Given the description of an element on the screen output the (x, y) to click on. 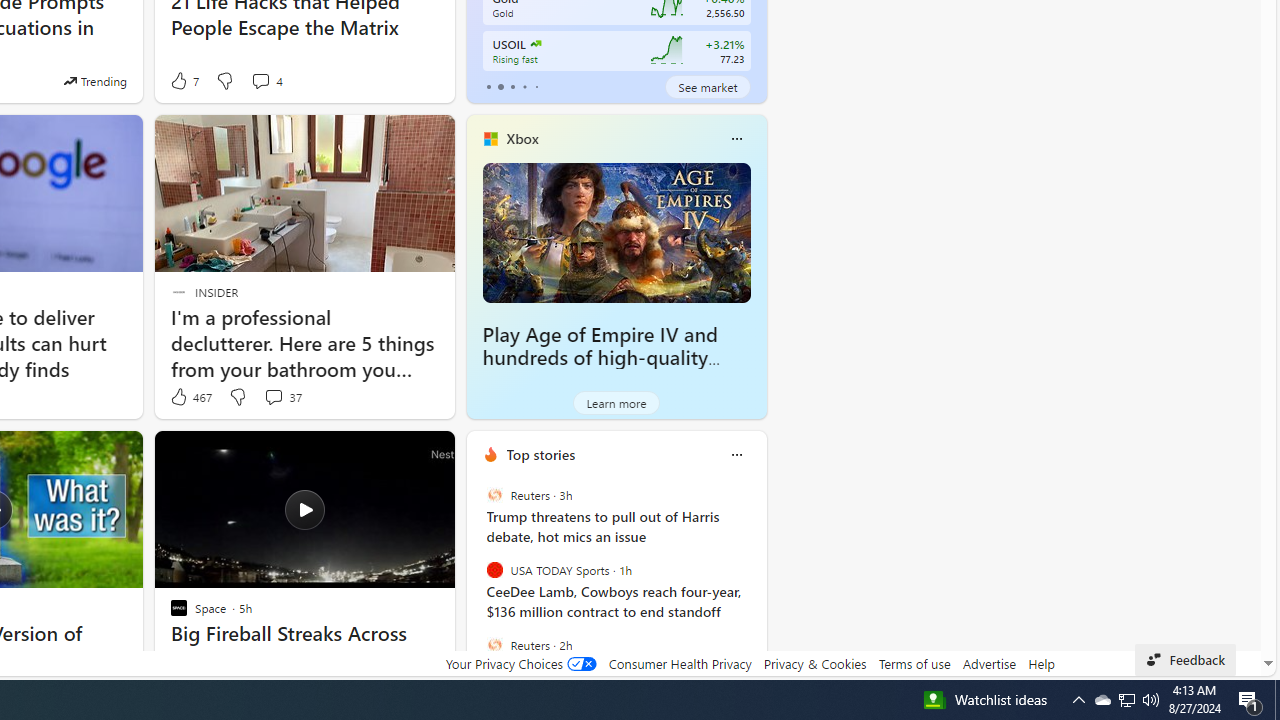
USA TODAY Sports (494, 570)
467 Like (190, 397)
previous (476, 583)
This story is trending (95, 80)
View comments 37 Comment (273, 396)
tab-0 (488, 86)
Your Privacy Choices (520, 663)
US Oil WTI (534, 43)
tab-1 (500, 86)
